Given the description of an element on the screen output the (x, y) to click on. 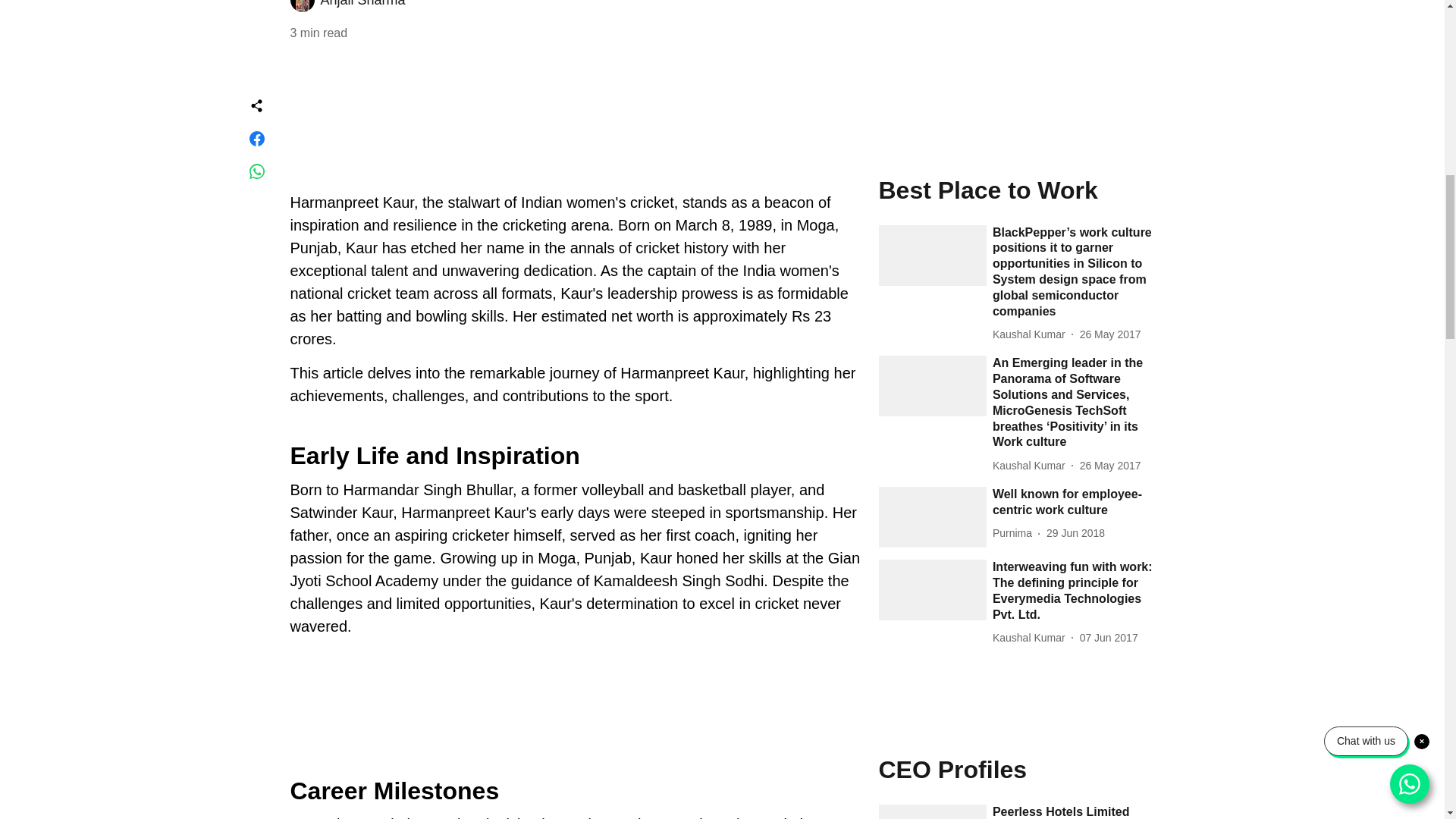
2018-06-29 05:45 (1075, 533)
2017-06-07 11:10 (1109, 637)
Anjali Sharma (362, 3)
2017-05-26 11:07 (1110, 334)
Best Place to Work (1015, 189)
3rd party ad content (574, 702)
Kaushal Kumar (1031, 334)
3rd party ad content (1015, 67)
2017-05-26 11:35 (1110, 465)
Kaushal Kumar (1031, 465)
